Given the description of an element on the screen output the (x, y) to click on. 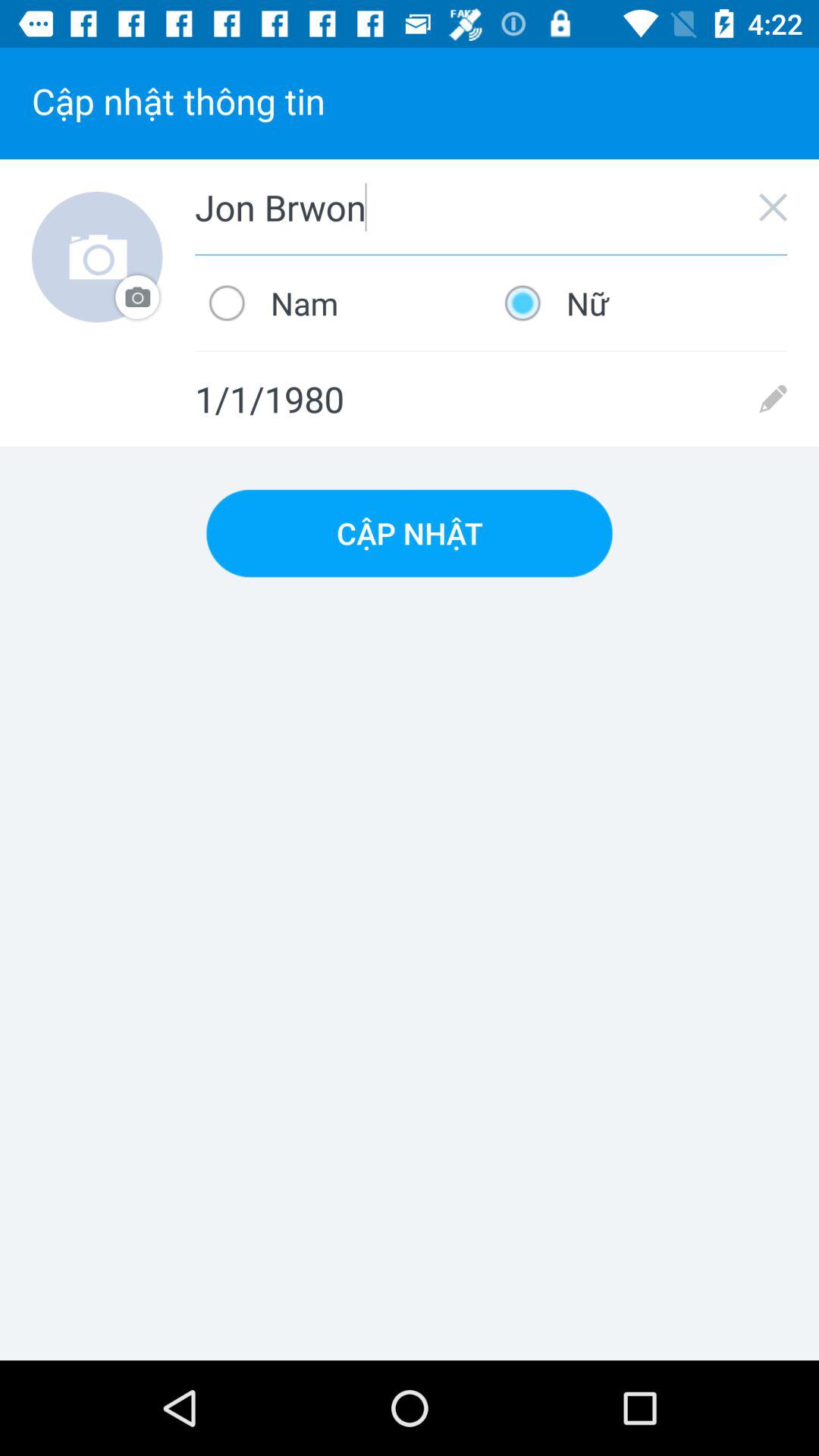
press item next to jon brwon icon (97, 257)
